Given the description of an element on the screen output the (x, y) to click on. 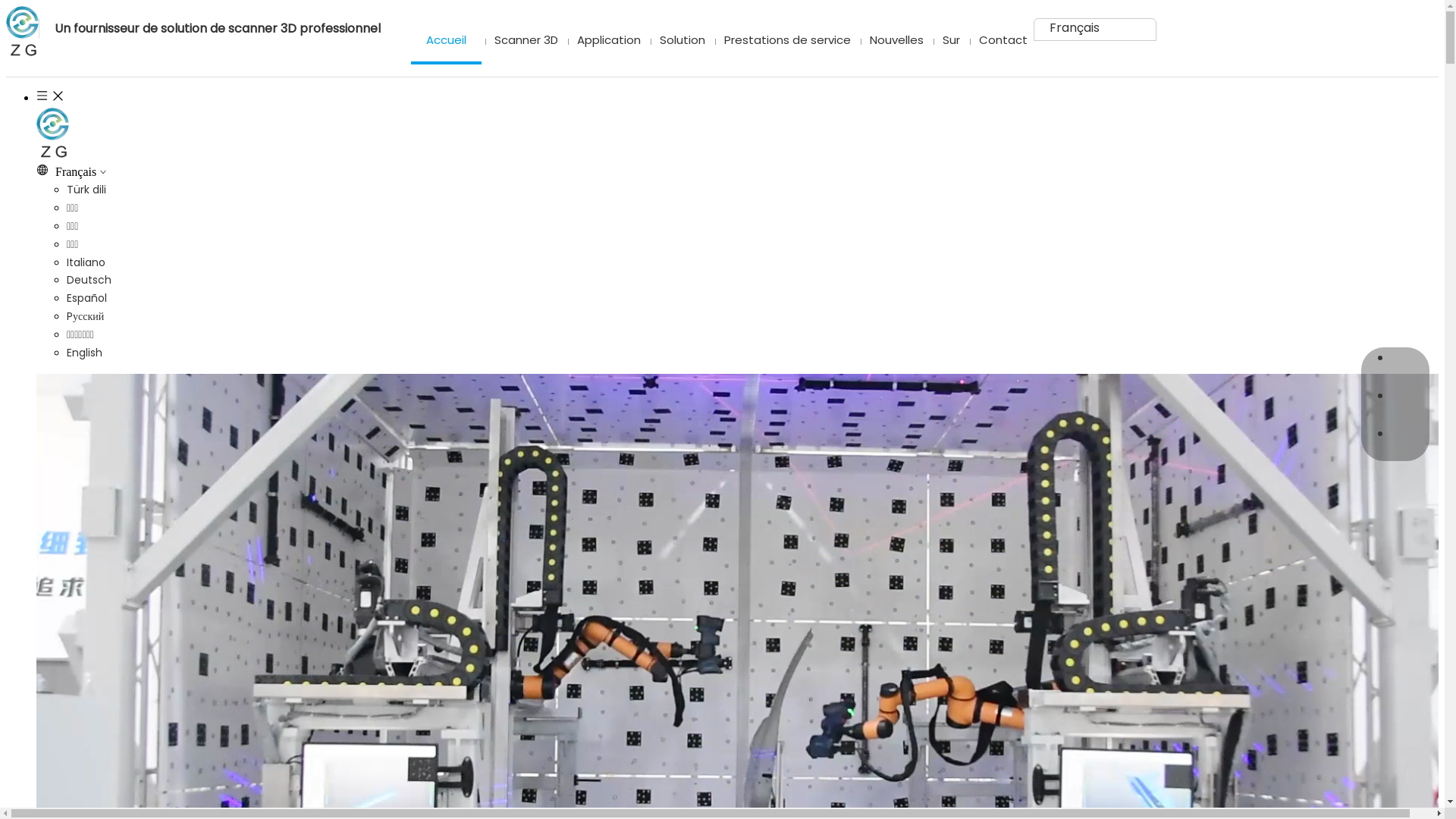
Accueil Element type: text (446, 41)
Italiano Element type: text (85, 261)
Application Element type: text (605, 41)
Scanner 3D Element type: text (522, 41)
Sur Element type: text (947, 41)
Contact Element type: text (999, 41)
Deutsch Element type: text (88, 279)
English Element type: text (84, 352)
Nouvelles Element type: text (892, 41)
Solution Element type: text (678, 41)
Prestations de service Element type: text (783, 41)
